Given the description of an element on the screen output the (x, y) to click on. 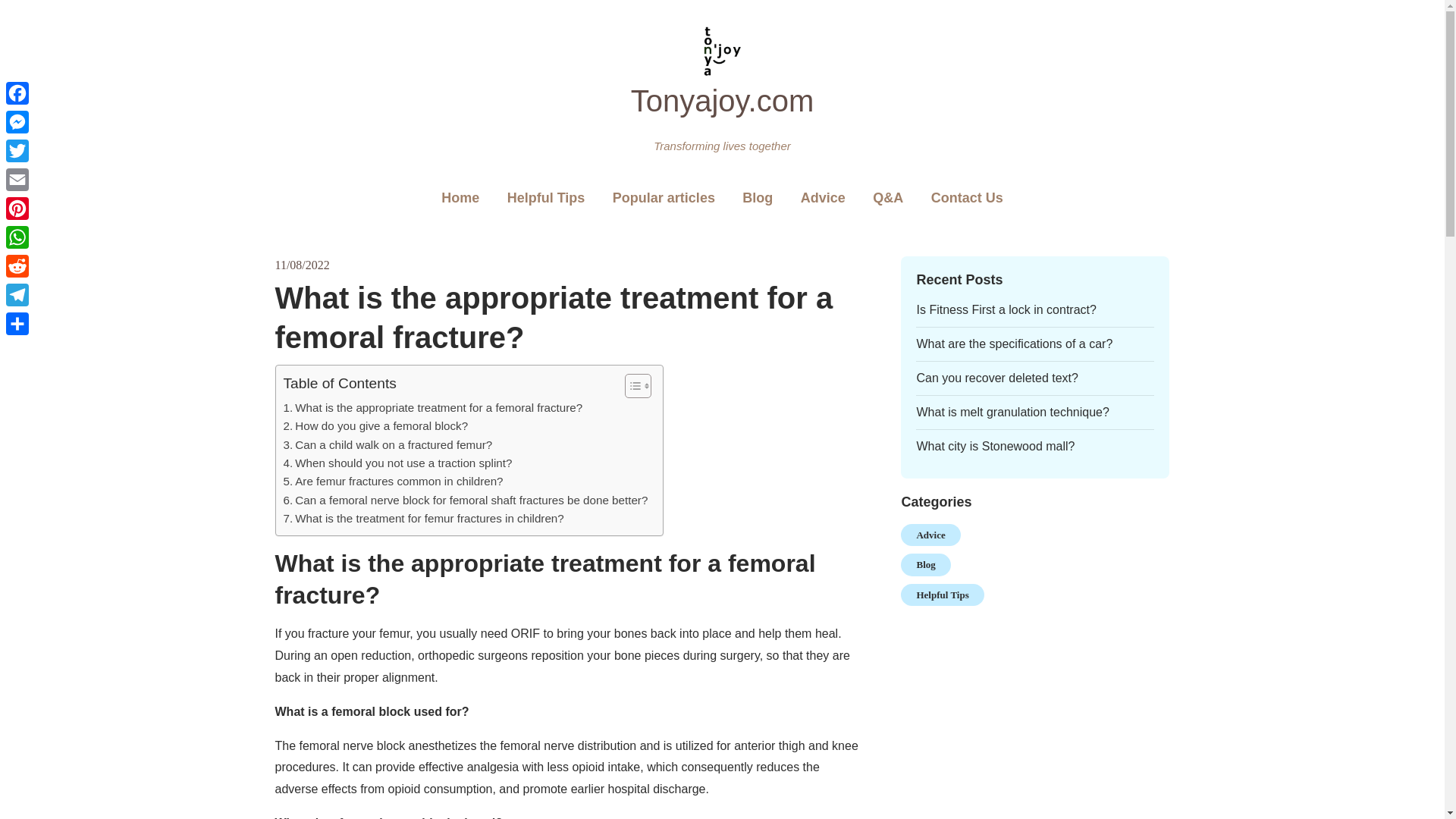
What is the treatment for femur fractures in children? (423, 518)
Can you recover deleted text? (996, 377)
How do you give a femoral block? (375, 425)
Helpful Tips (545, 198)
Can a child walk on a fractured femur? (388, 444)
Is Fitness First a lock in contract? (1005, 309)
What are the specifications of a car? (1013, 343)
Pinterest (17, 208)
Advice (823, 198)
